Given the description of an element on the screen output the (x, y) to click on. 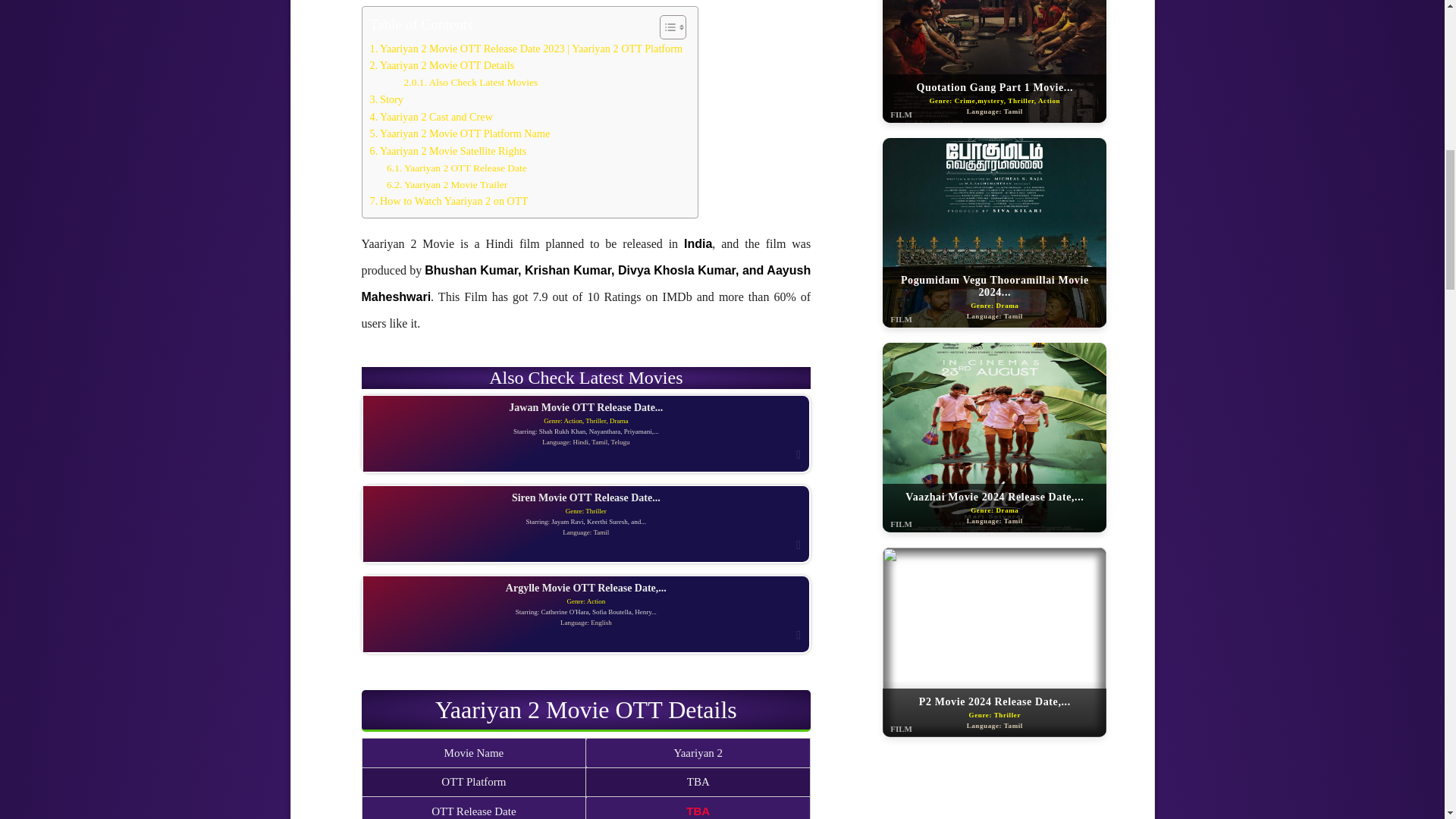
Also Check Latest Movies (470, 82)
Yaariyan 2 OTT Release Date (457, 167)
Yaariyan 2  Movie Trailer (446, 184)
Yaariyan 2 Movie OTT Details  (442, 65)
Yaariyan 2 Cast and Crew (431, 117)
Story (386, 99)
Story (386, 99)
Yaariyan 2 Movie OTT Details (442, 65)
Yaariyan 2 Movie Satellite Rights (448, 150)
How to Watch Yaariyan 2 on OTT (448, 200)
